Given the description of an element on the screen output the (x, y) to click on. 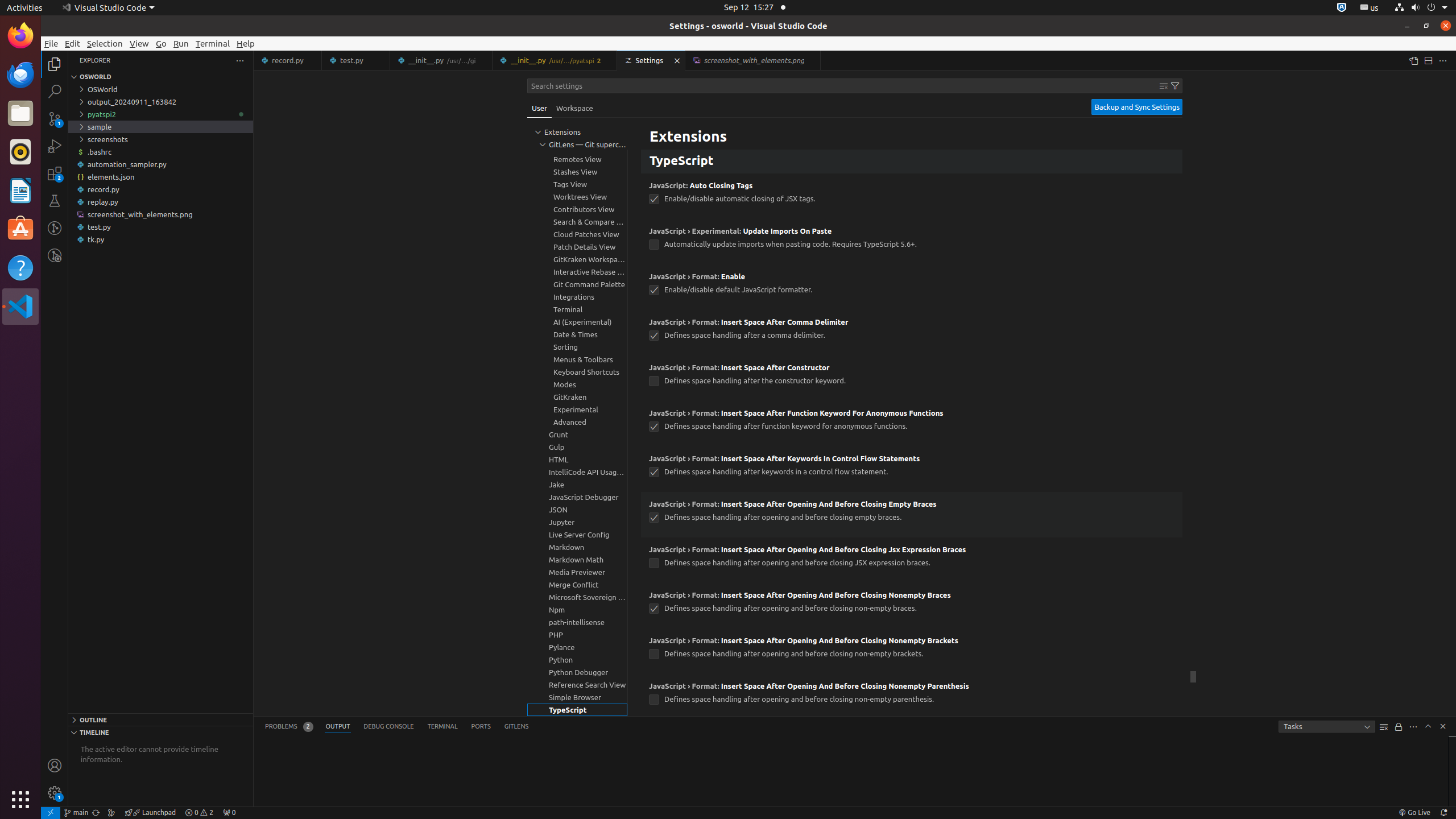
GitLens Element type: page-tab (516, 726)
Markdown, group Element type: tree-item (577, 546)
Split Editor Right (Ctrl+\) [Alt] Split Editor Down Element type: push-button (1427, 60)
Grunt, group Element type: tree-item (577, 434)
Microsoft Sovereign Cloud, group Element type: tree-item (577, 596)
